Given the description of an element on the screen output the (x, y) to click on. 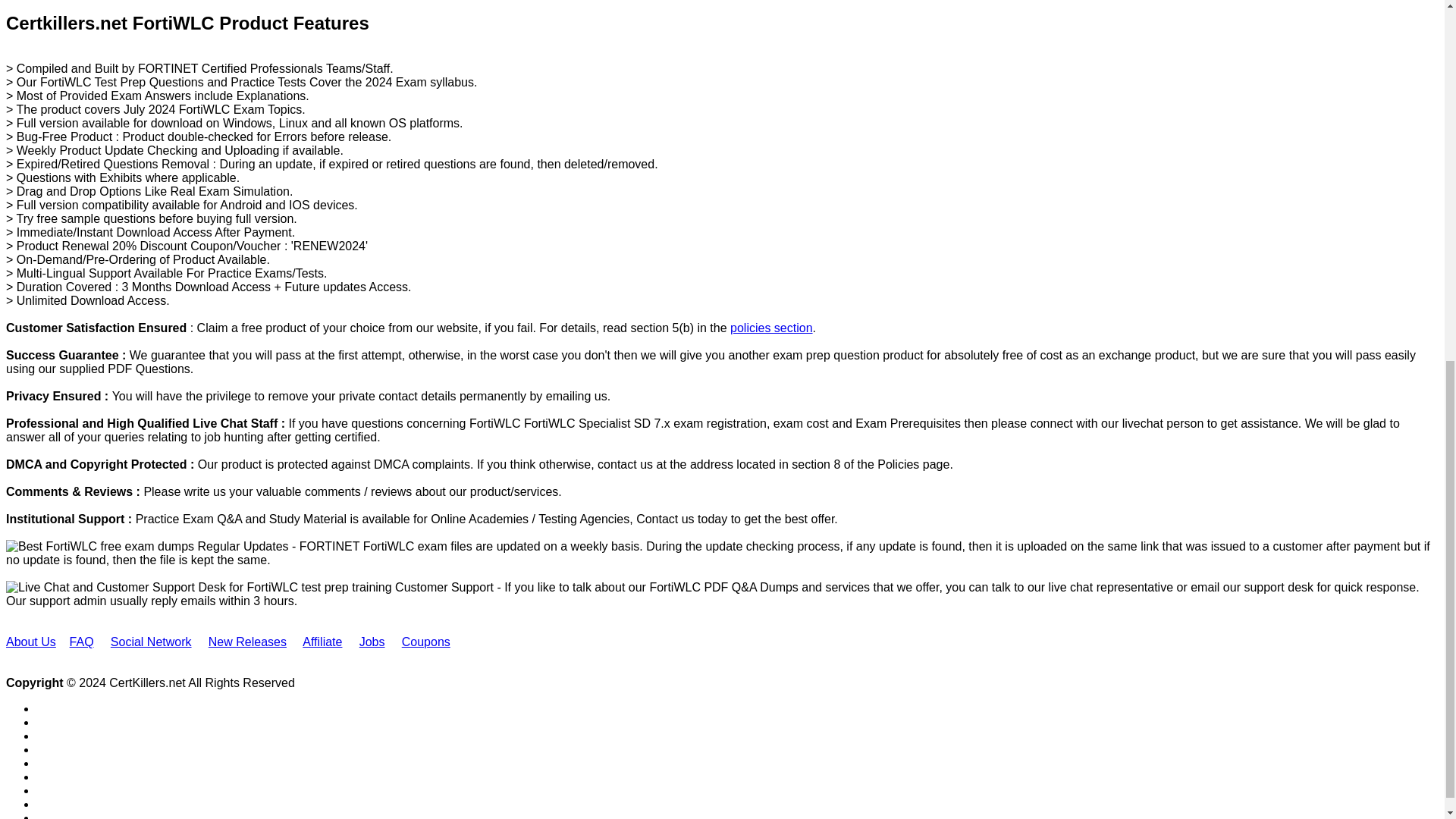
Coupons (425, 641)
Affiliate (322, 641)
policies section (771, 327)
FAQ (81, 641)
About Us (30, 641)
Jobs (372, 641)
Social Network (151, 641)
New Releases (247, 641)
